Given the description of an element on the screen output the (x, y) to click on. 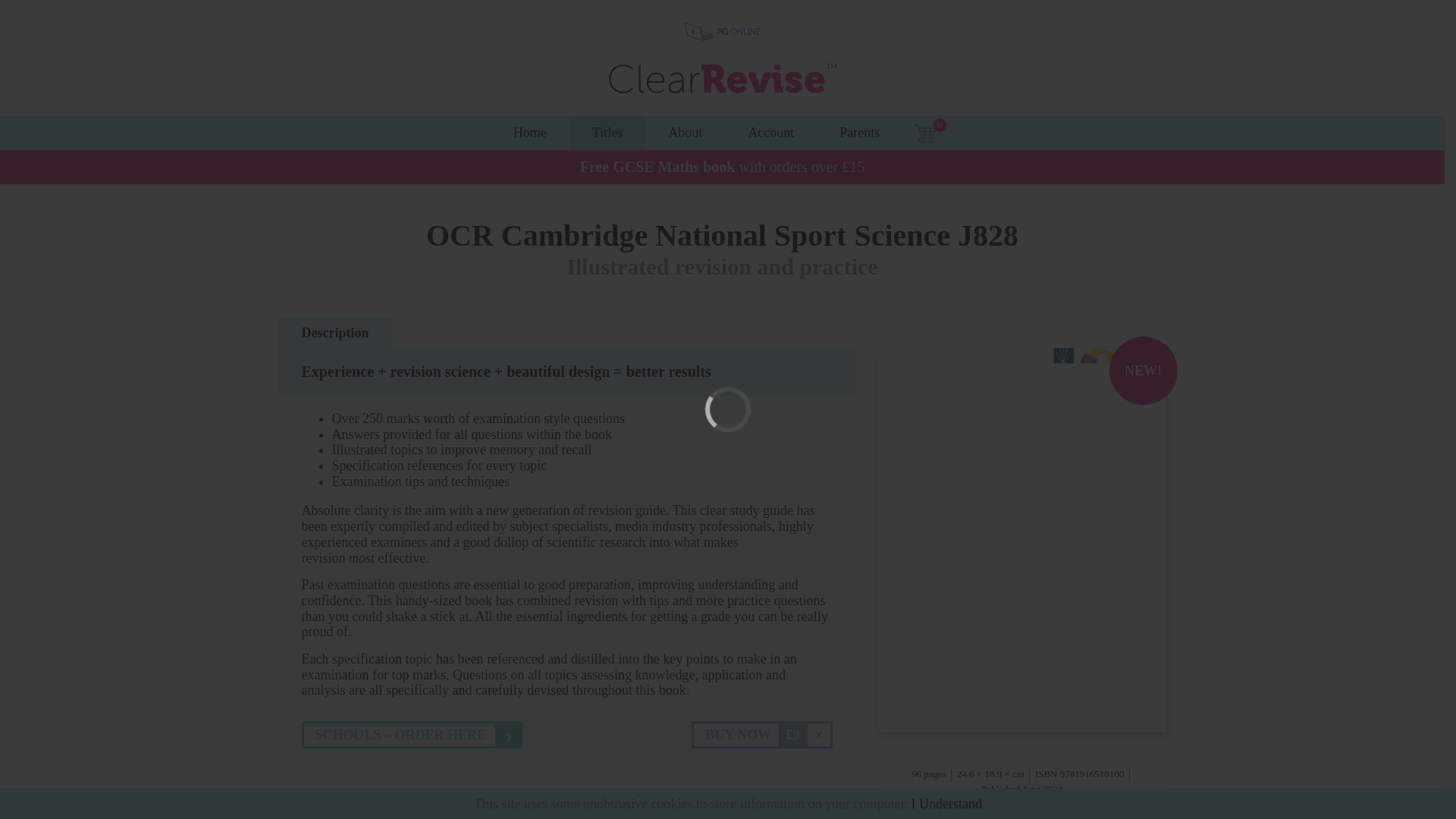
Description (335, 332)
Titles (607, 132)
Account (770, 132)
Parents (859, 132)
Home (529, 132)
0 (927, 132)
I Understand (946, 803)
About (685, 132)
DOWNLOAD SAMPLE PDF (742, 814)
